Given the description of an element on the screen output the (x, y) to click on. 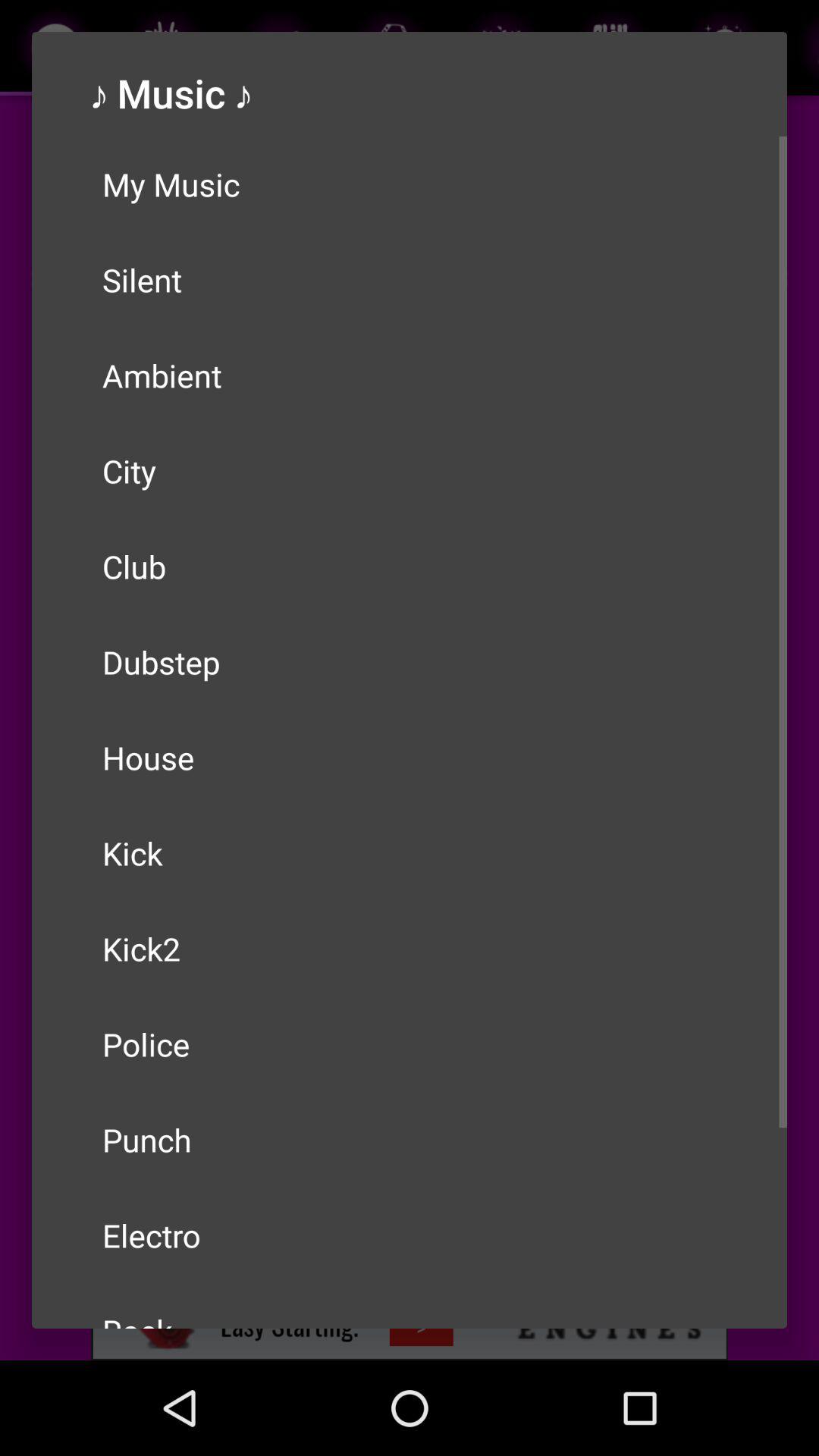
select kick2 icon (409, 948)
